Given the description of an element on the screen output the (x, y) to click on. 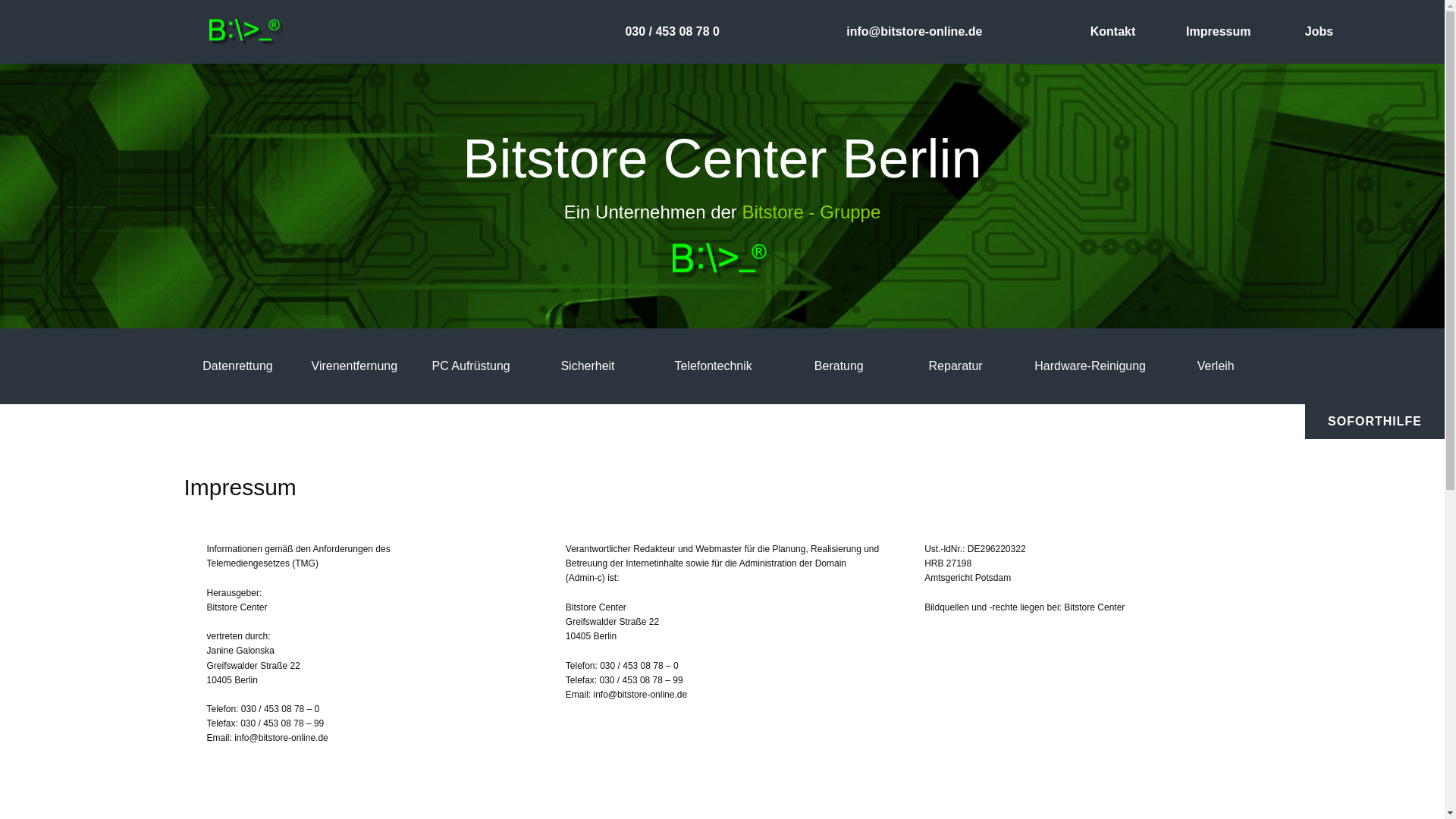
Beratung Element type: text (838, 365)
Virenentfernung Element type: text (354, 365)
Datenrettung Element type: text (237, 365)
SOFORTHILFE Element type: text (1374, 421)
030 / 453 08 78 0 Element type: text (671, 31)
Impressum Element type: text (1218, 31)
info@bitstore-online.de Element type: text (914, 31)
Reparatur Element type: text (955, 365)
Verleih Element type: text (1215, 365)
Sicherheit Element type: text (587, 365)
Hardware-Reinigung Element type: text (1089, 365)
Jobs Element type: text (1319, 31)
Kontakt Element type: text (1112, 31)
Telefontechnik Element type: text (712, 365)
